Given the description of an element on the screen output the (x, y) to click on. 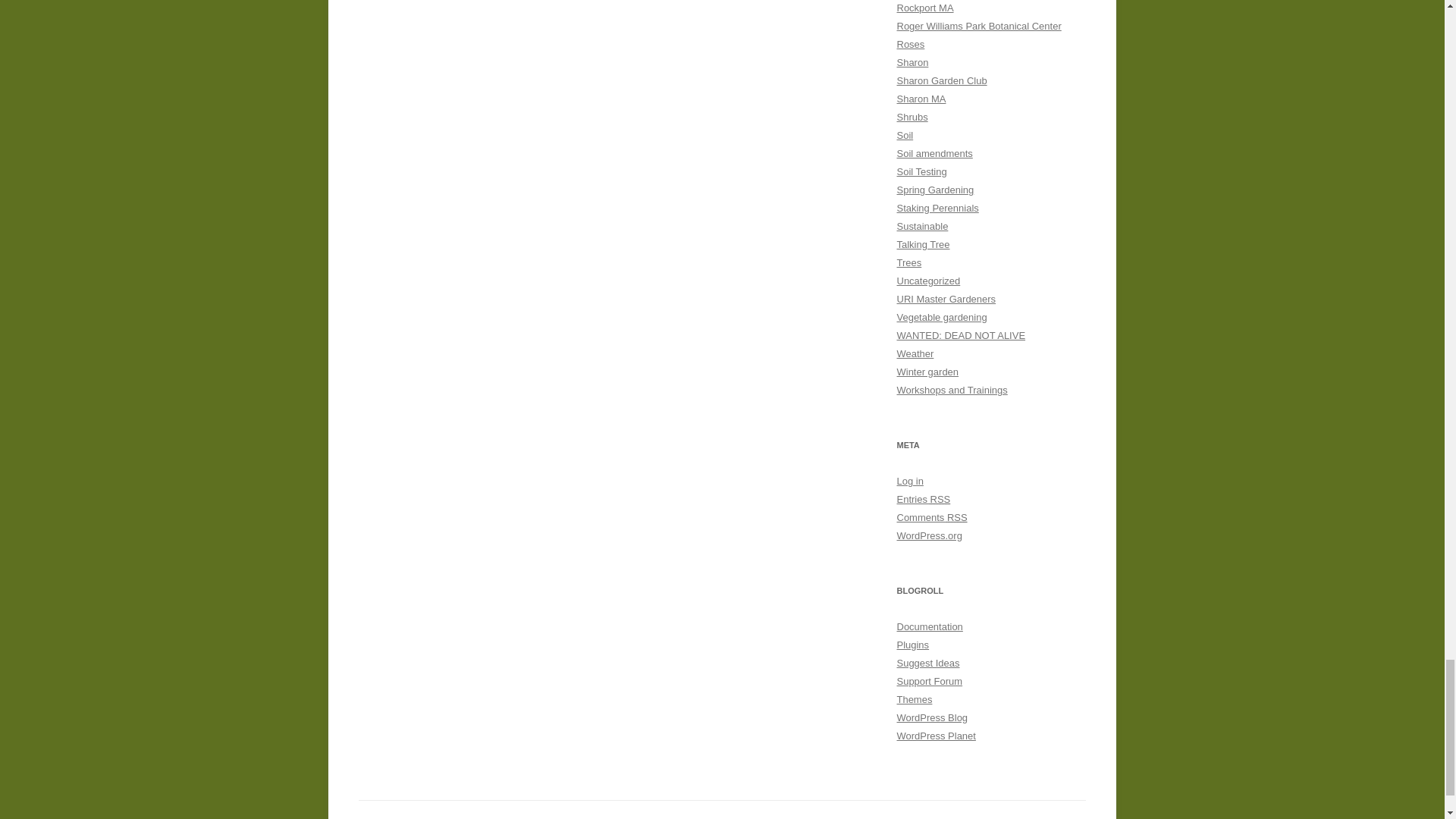
Really Simple Syndication (940, 499)
Really Simple Syndication (957, 517)
